Given the description of an element on the screen output the (x, y) to click on. 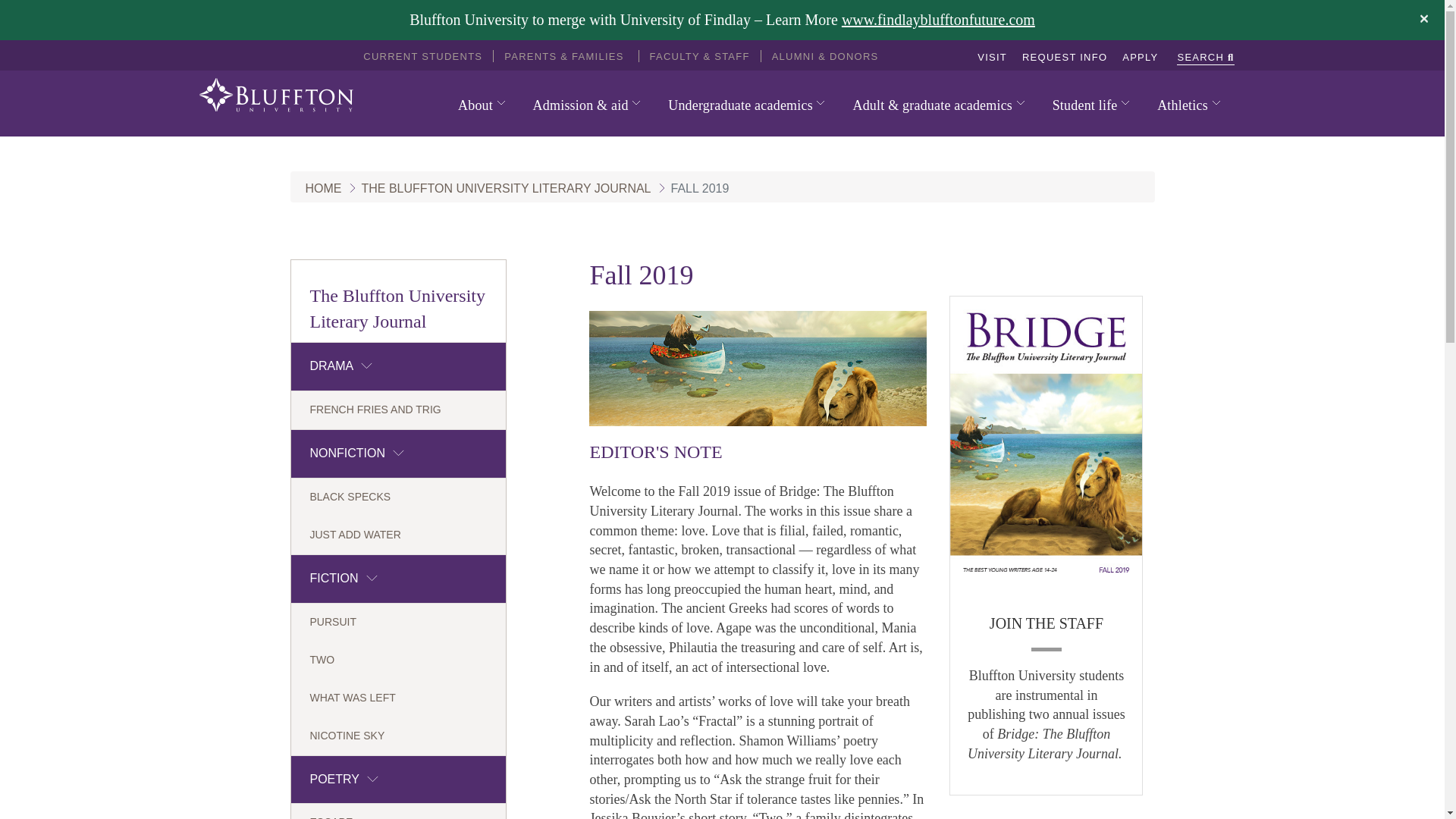
www.findlayblufftonfuture.com (938, 19)
Student life (1090, 105)
About (481, 105)
Undergraduate academics (745, 105)
